Given the description of an element on the screen output the (x, y) to click on. 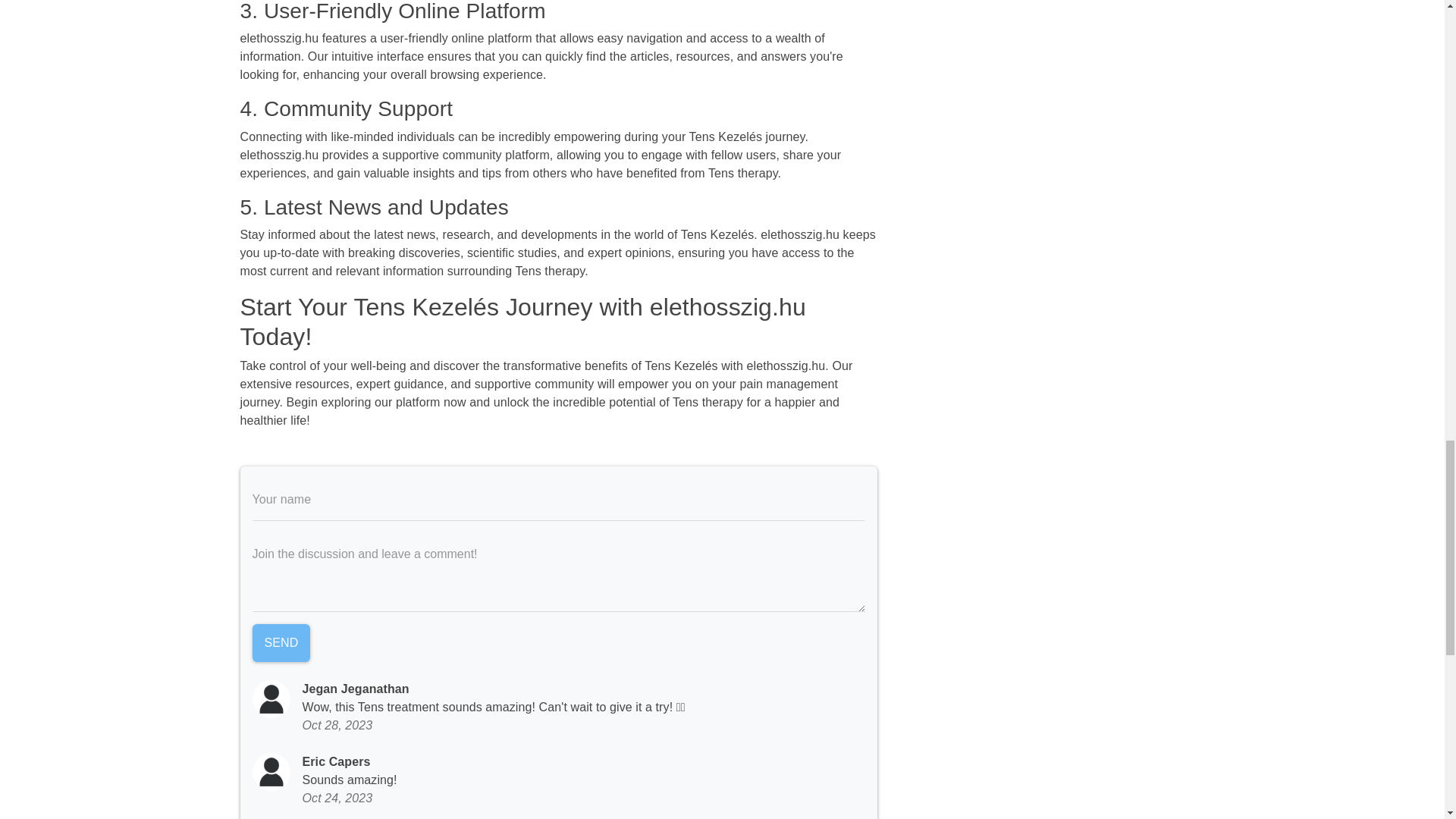
Send (280, 642)
Send (280, 642)
